Given the description of an element on the screen output the (x, y) to click on. 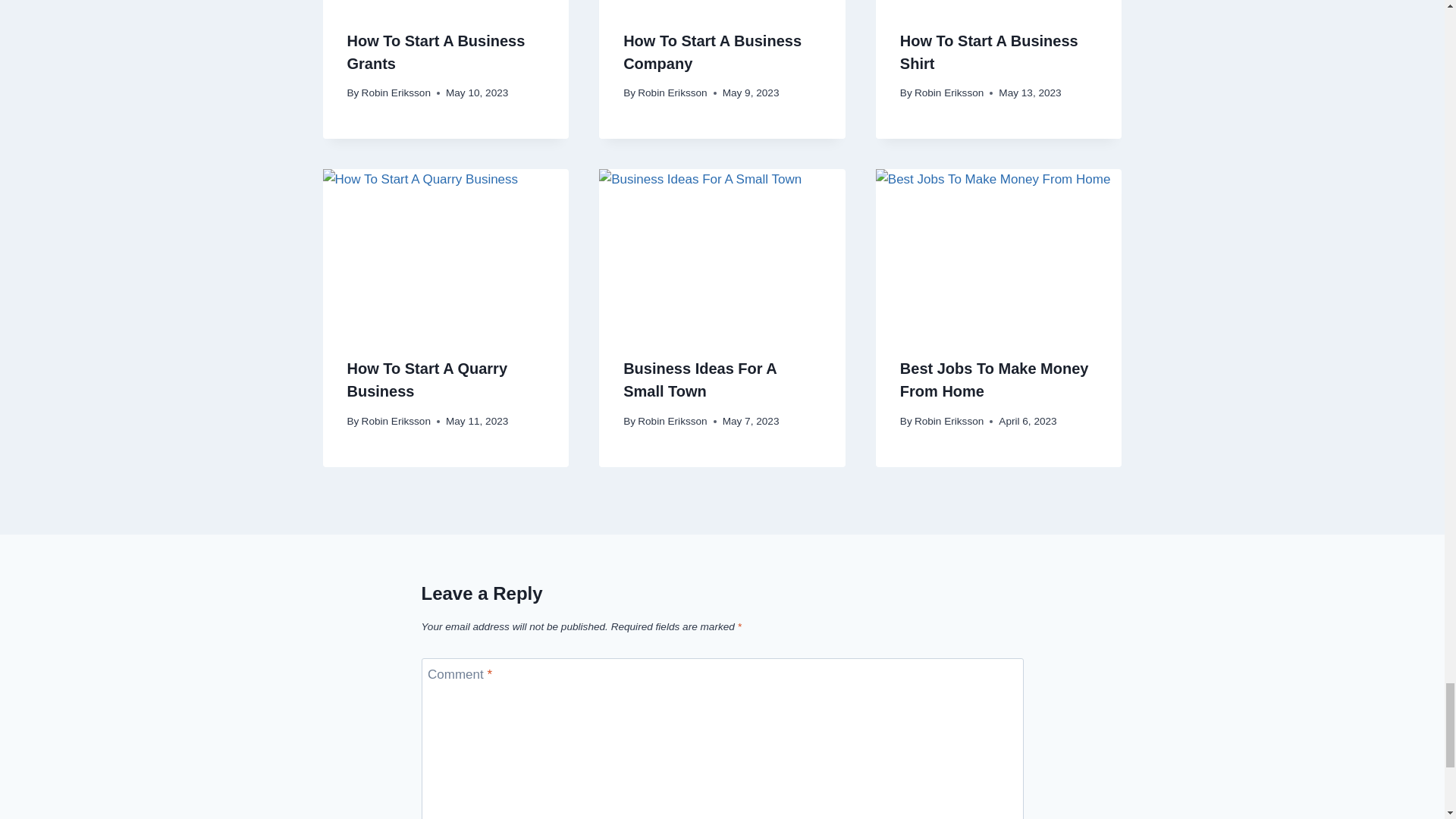
How To Start A Quarry Business 9 (446, 250)
How To Start A Business Company 5 (721, 2)
How To Start A Business Grants 3 (446, 2)
How To Start A Business Shirt 7 (999, 2)
Business Ideas For A Small Town 11 (721, 250)
How To Start A Business Grants (436, 52)
Best Jobs To Make Money From Home 13 (999, 250)
Robin Eriksson (395, 92)
